Given the description of an element on the screen output the (x, y) to click on. 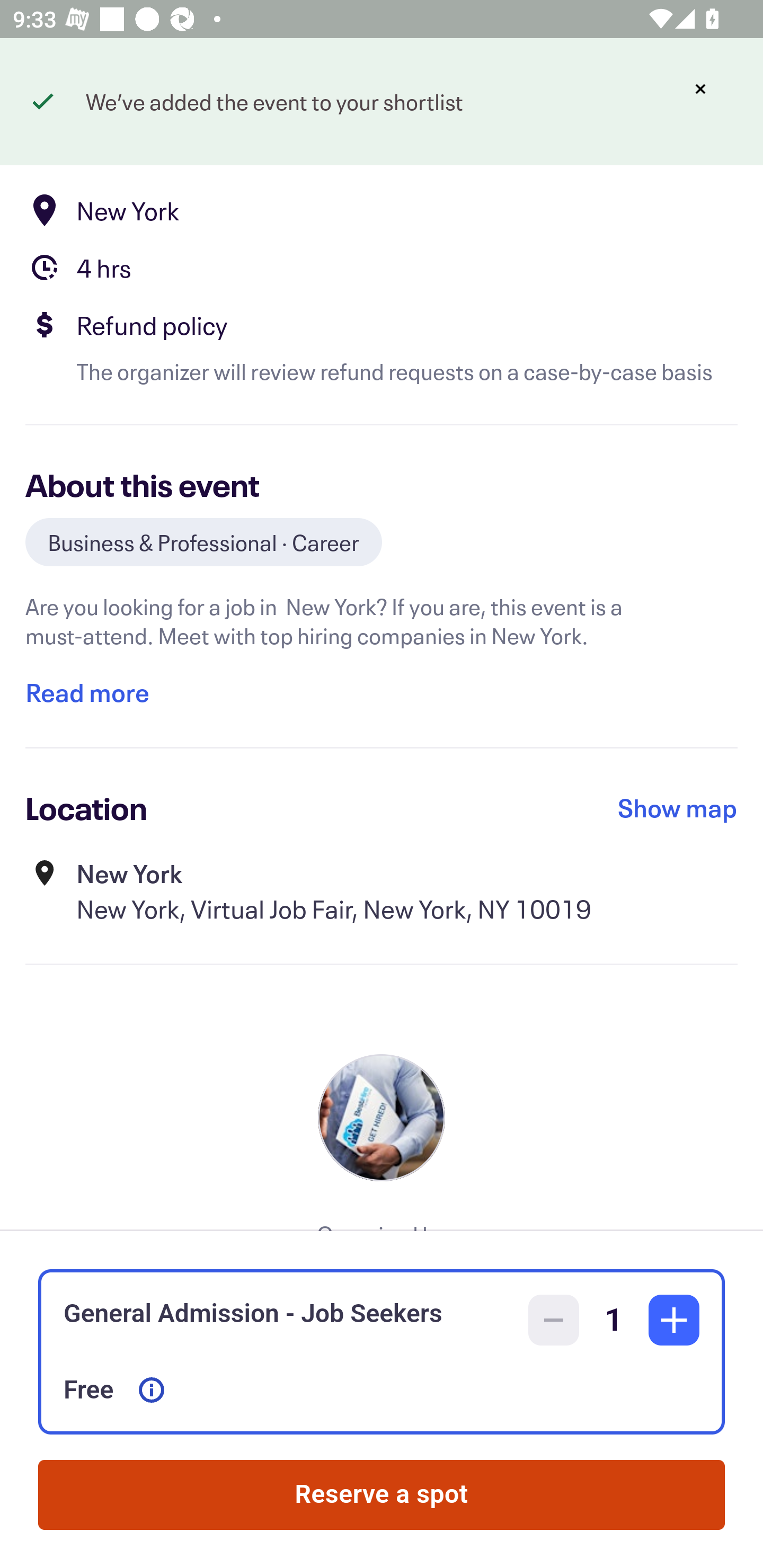
Back (57, 94)
Share (705, 94)
Location New York (381, 209)
Read more (87, 691)
Show map (677, 807)
Organizer profile picture (381, 1116)
Decrease (553, 1320)
Increase (673, 1320)
Show more information (151, 1389)
Reserve a spot (381, 1494)
